Given the description of an element on the screen output the (x, y) to click on. 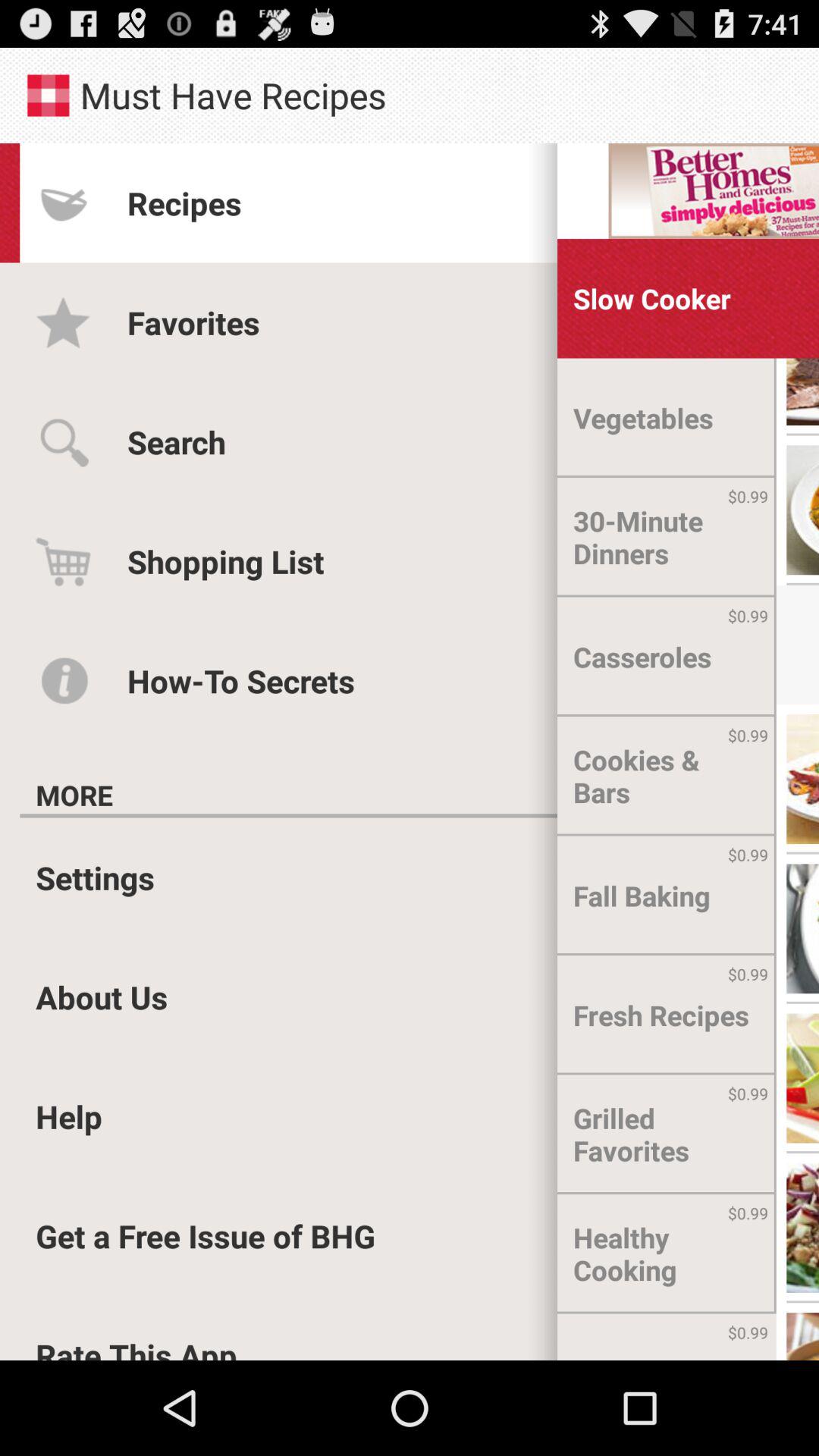
flip to healthy cooking (666, 1253)
